Given the description of an element on the screen output the (x, y) to click on. 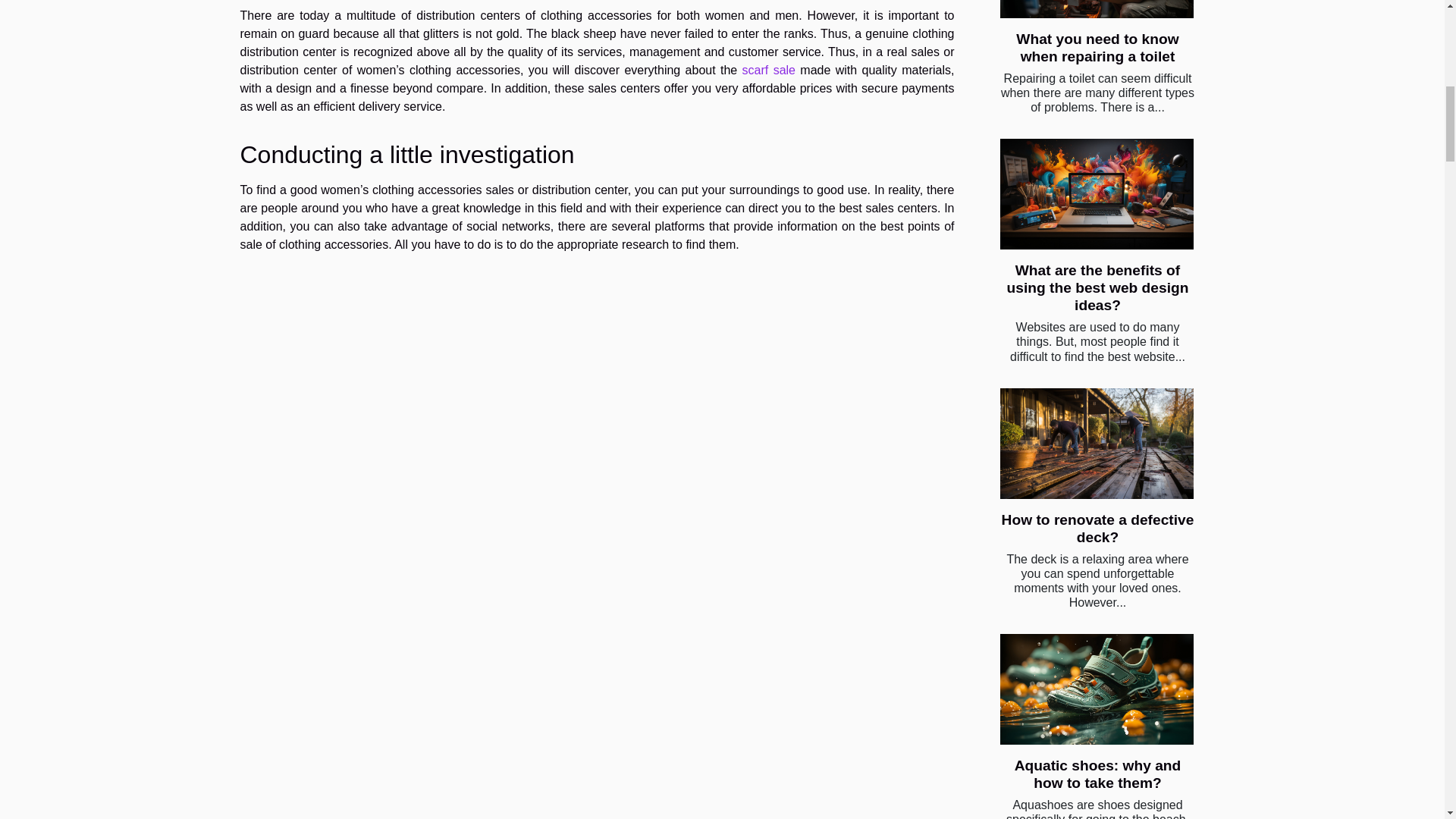
What are the benefits of using the best web design ideas? (1098, 287)
What are the benefits of using the best web design ideas? (1095, 193)
What are the benefits of using the best web design ideas? (1098, 287)
What you need to know when repairing a toilet (1096, 47)
What you need to know when repairing a toilet (1095, 9)
How to renovate a defective deck? (1095, 443)
How to renovate a defective deck? (1097, 528)
Aquatic shoes: why and how to take them? (1097, 774)
What you need to know when repairing a toilet (1096, 47)
scarf sale (768, 69)
Aquatic shoes: why and how to take them? (1097, 774)
How to renovate a defective deck? (1097, 528)
Aquatic shoes: why and how to take them? (1095, 688)
